Given the description of an element on the screen output the (x, y) to click on. 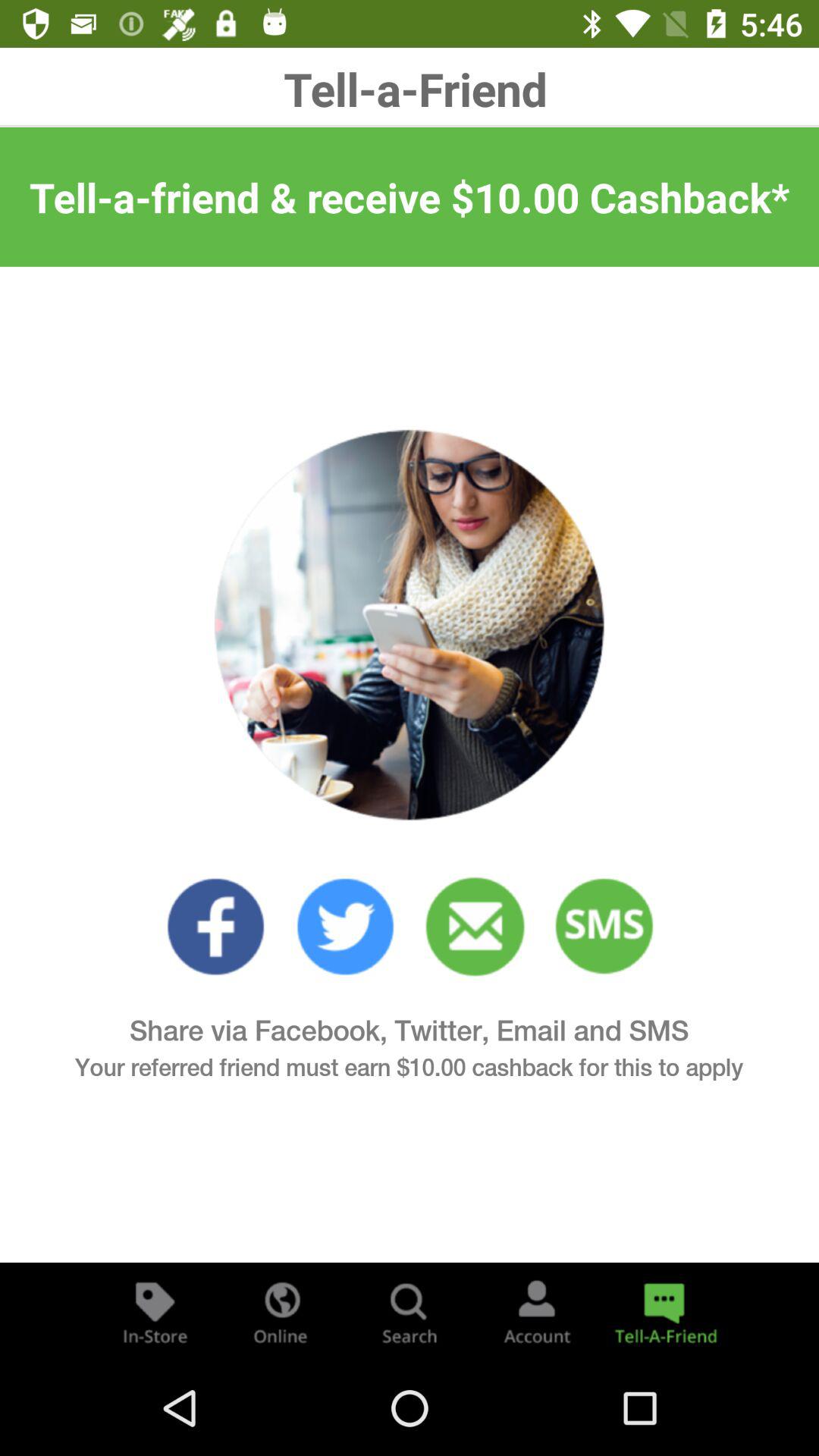
share the page (664, 1311)
